Given the description of an element on the screen output the (x, y) to click on. 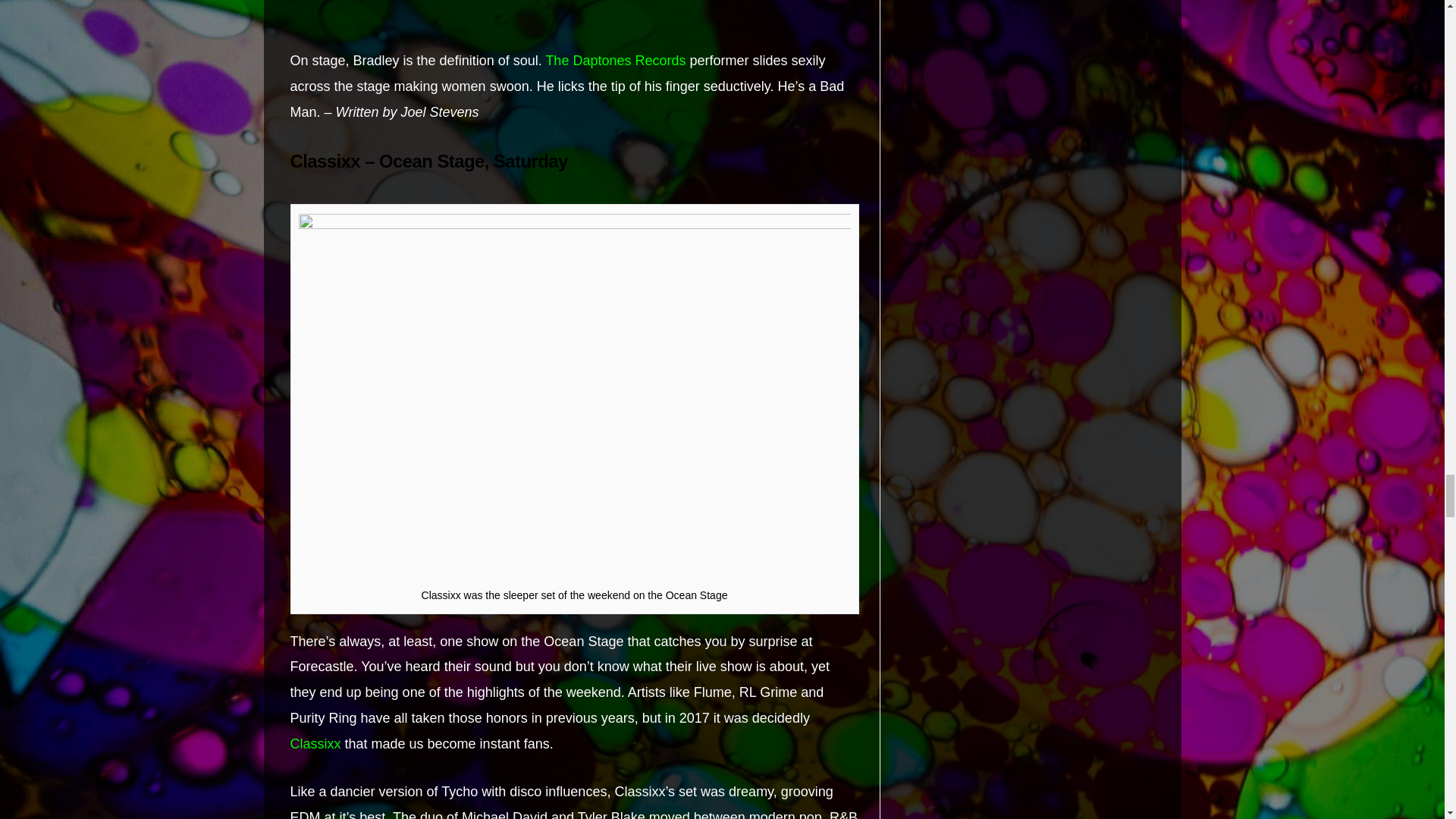
Classixx (314, 743)
The Daptones Records (614, 60)
